Given the description of an element on the screen output the (x, y) to click on. 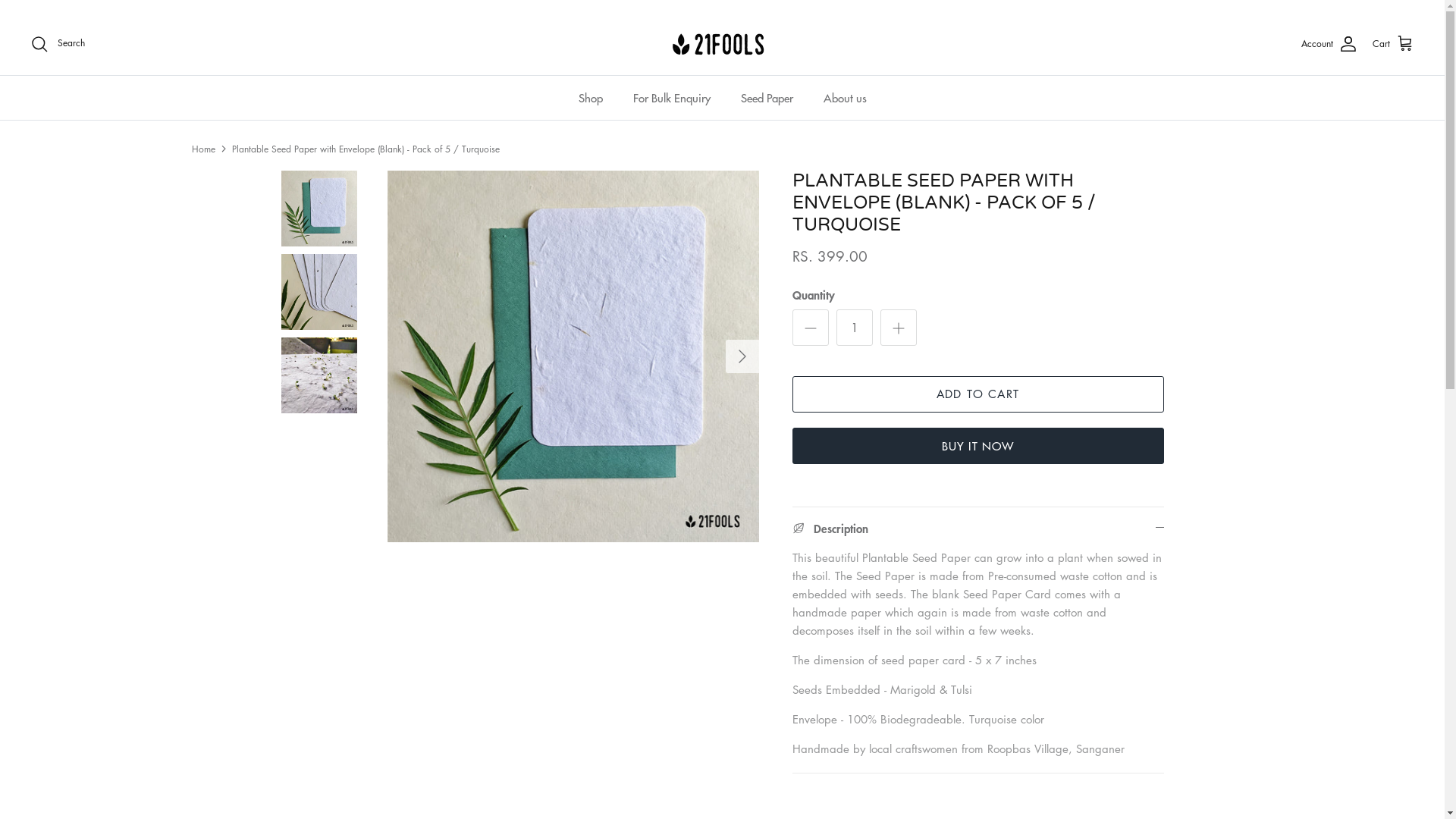
About us Element type: text (844, 97)
ADD TO CART Element type: text (977, 394)
BUY IT NOW Element type: text (977, 445)
Shop Element type: text (589, 97)
Account Element type: text (1329, 43)
RIGHT Element type: text (741, 356)
Plus Element type: text (897, 327)
Seed Paper Element type: text (766, 97)
Cart Element type: text (1393, 43)
Search Element type: text (57, 43)
21 Fools  Element type: hover (722, 43)
Home Element type: text (202, 147)
For Bulk Enquiry Element type: text (670, 97)
Minus Element type: text (809, 327)
